Given the description of an element on the screen output the (x, y) to click on. 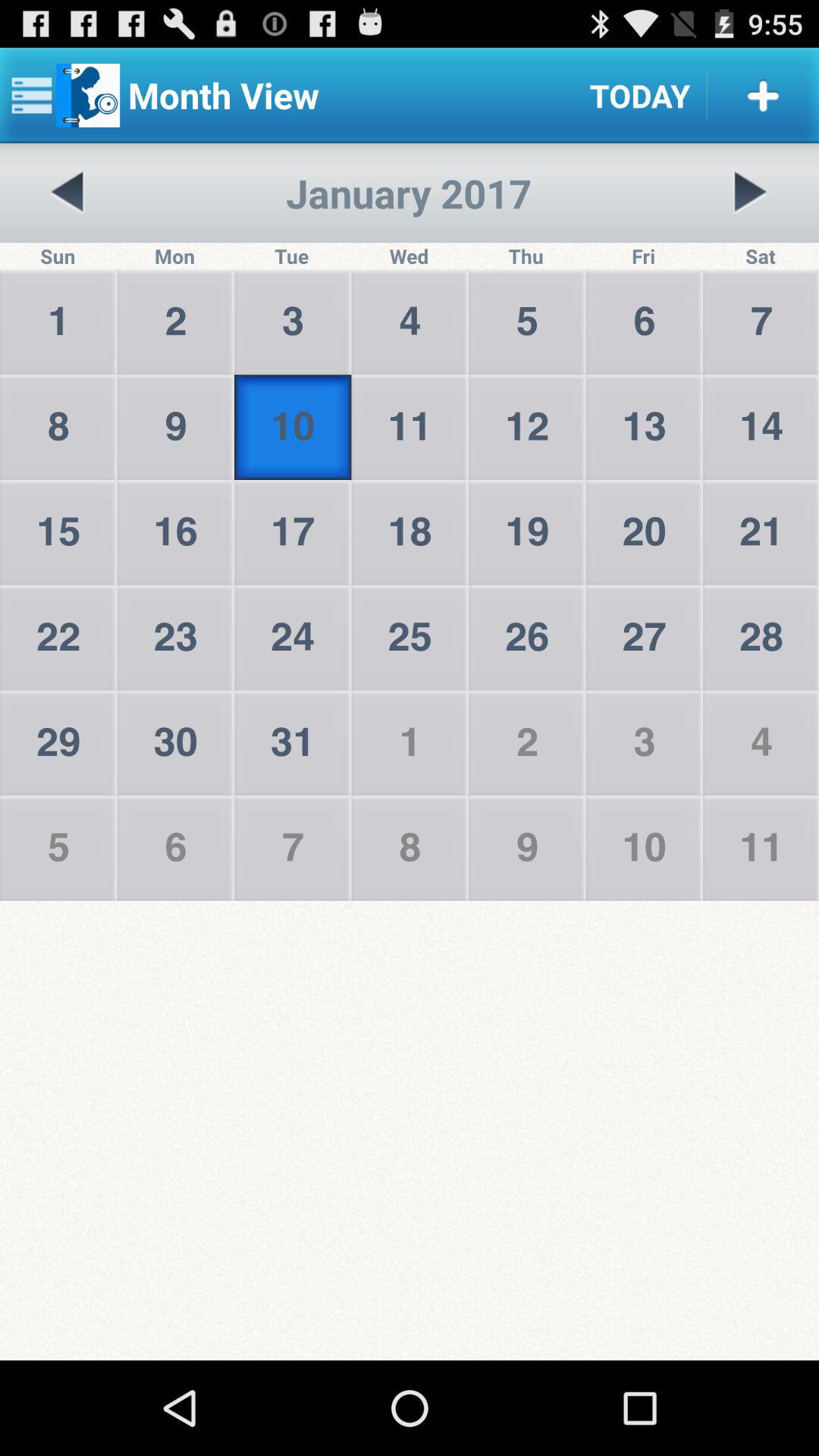
add event (763, 95)
